Given the description of an element on the screen output the (x, y) to click on. 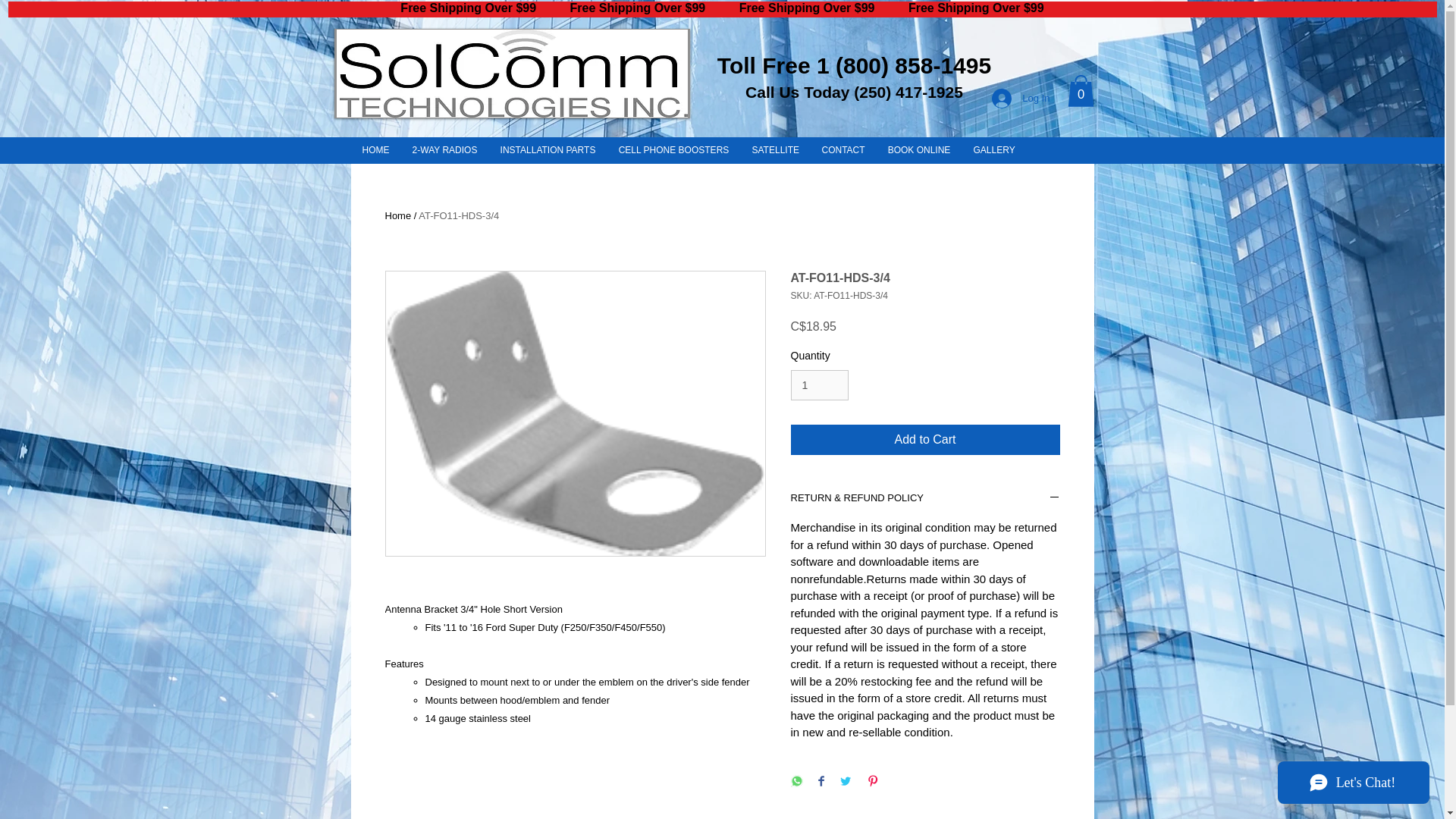
HOME (375, 149)
CELL PHONE BOOSTERS (673, 149)
2-WAY RADIOS (443, 149)
Home (398, 215)
1 (818, 385)
INSTALLATION PARTS (547, 149)
Log In (1020, 98)
CONTACT (842, 149)
SATELLITE (774, 149)
Add to Cart (924, 440)
